Given the description of an element on the screen output the (x, y) to click on. 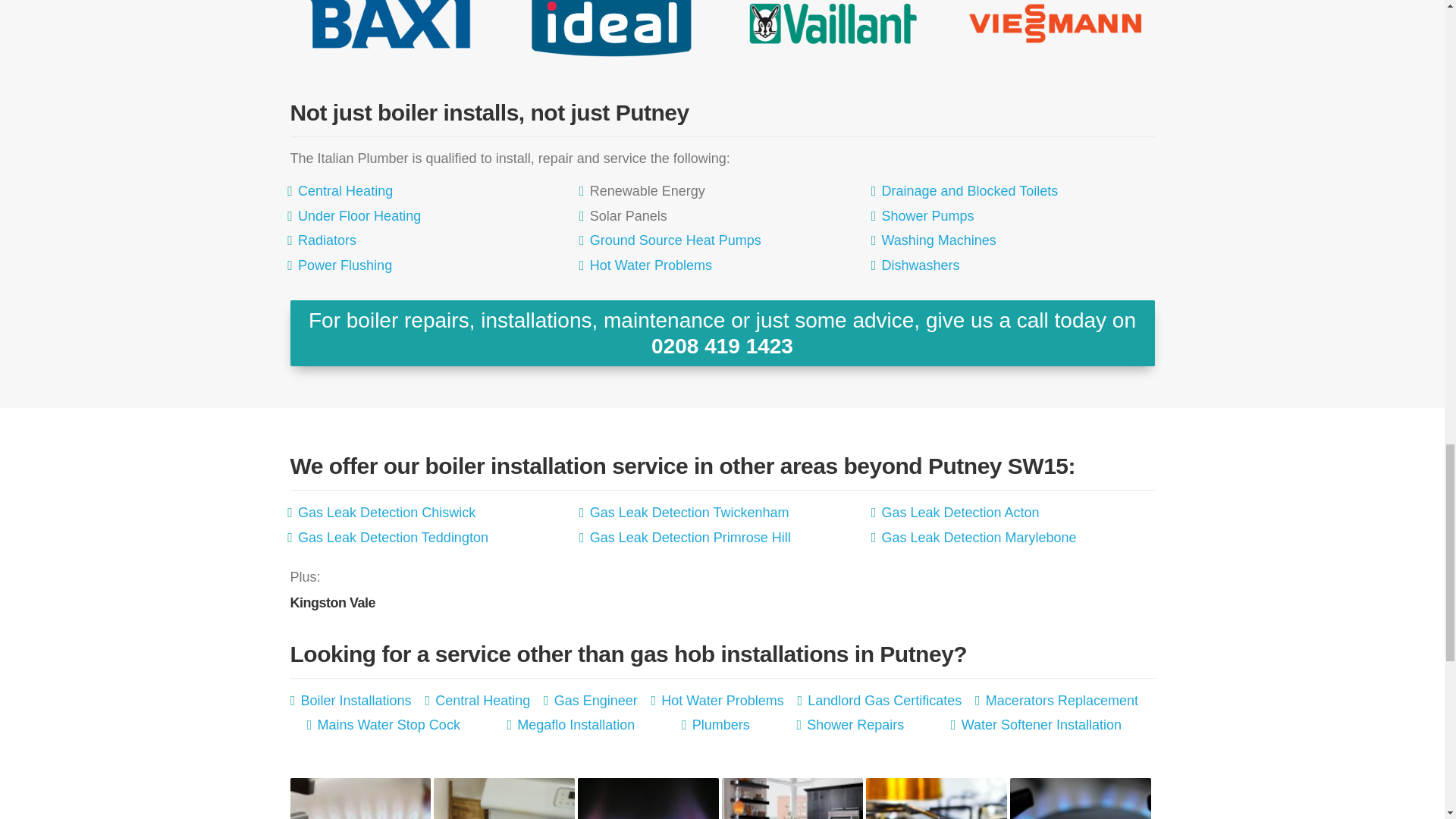
Putney Boiler Repair (611, 28)
Boiler Repair Putney (389, 28)
Boiler Servicing Putney (834, 28)
Boiler Engineer Putney (1055, 28)
